Given the description of an element on the screen output the (x, y) to click on. 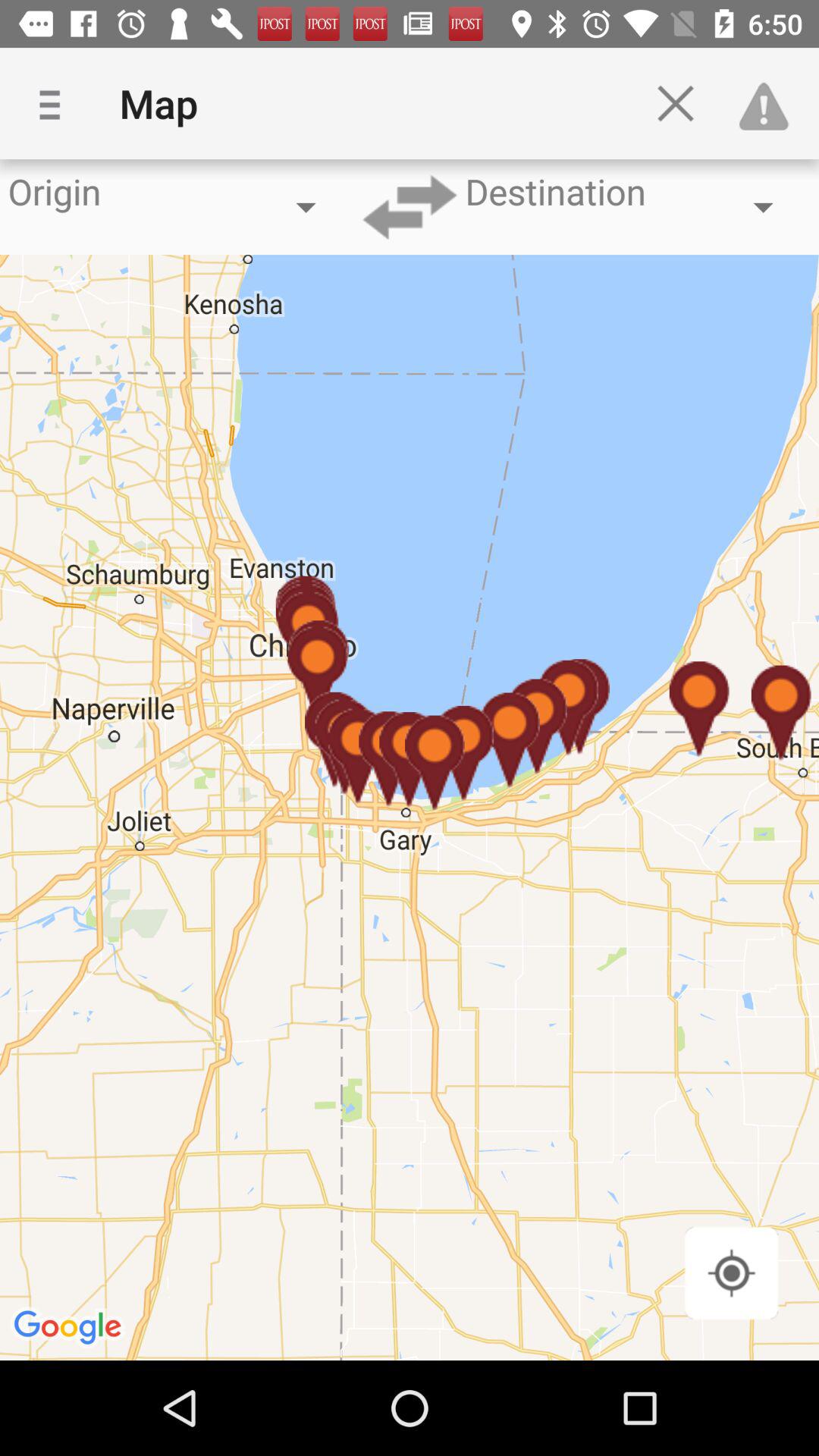
trace my location option (731, 1272)
